Given the description of an element on the screen output the (x, y) to click on. 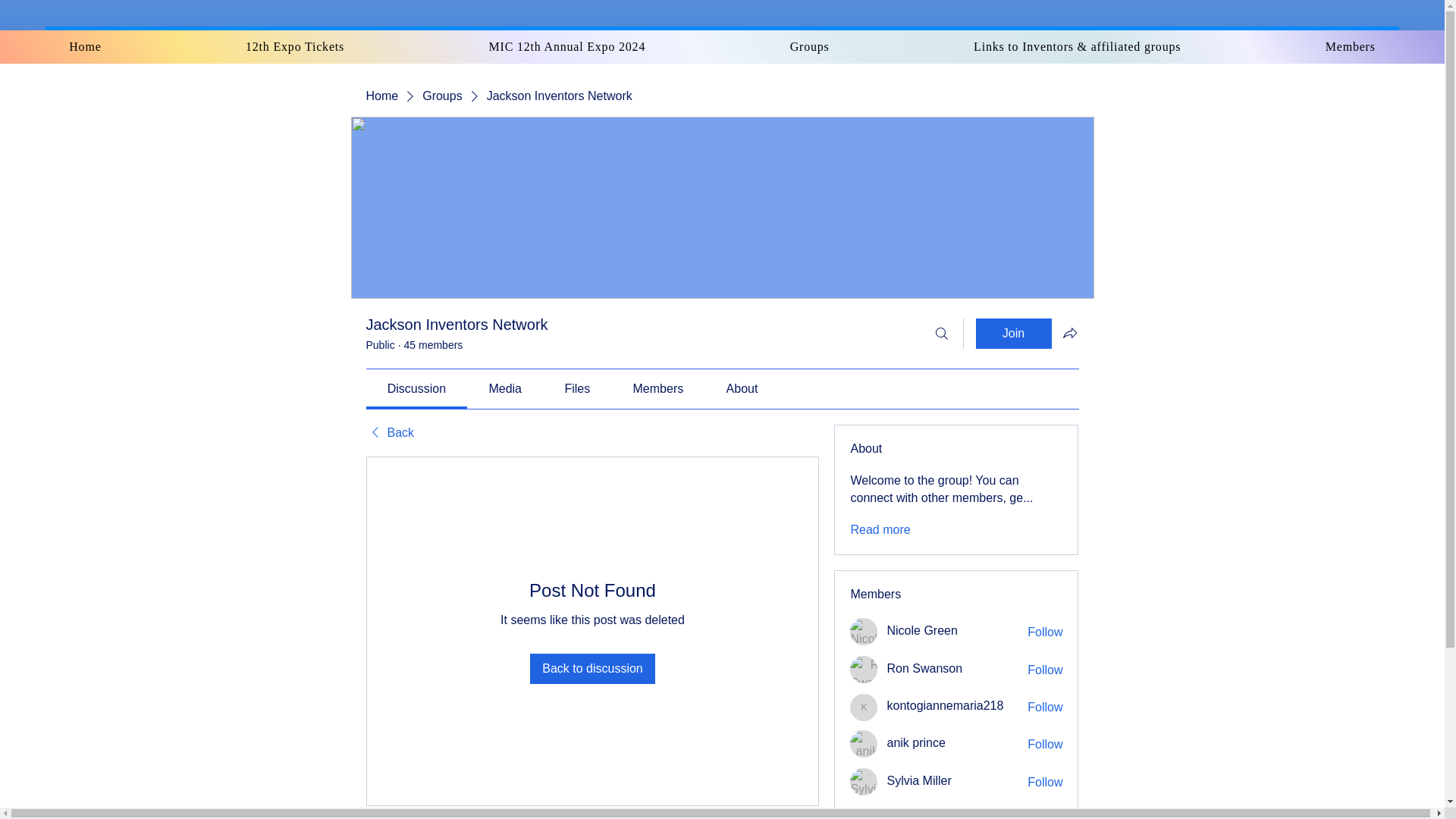
12th Expo Tickets (294, 46)
Nicole Green (921, 630)
Follow (1044, 744)
Follow (1044, 669)
kontogiannemaria218 (944, 705)
Follow (1044, 707)
Follow (1044, 782)
Sylvia Miller (918, 780)
Members (1349, 46)
Read more (880, 529)
